Given the description of an element on the screen output the (x, y) to click on. 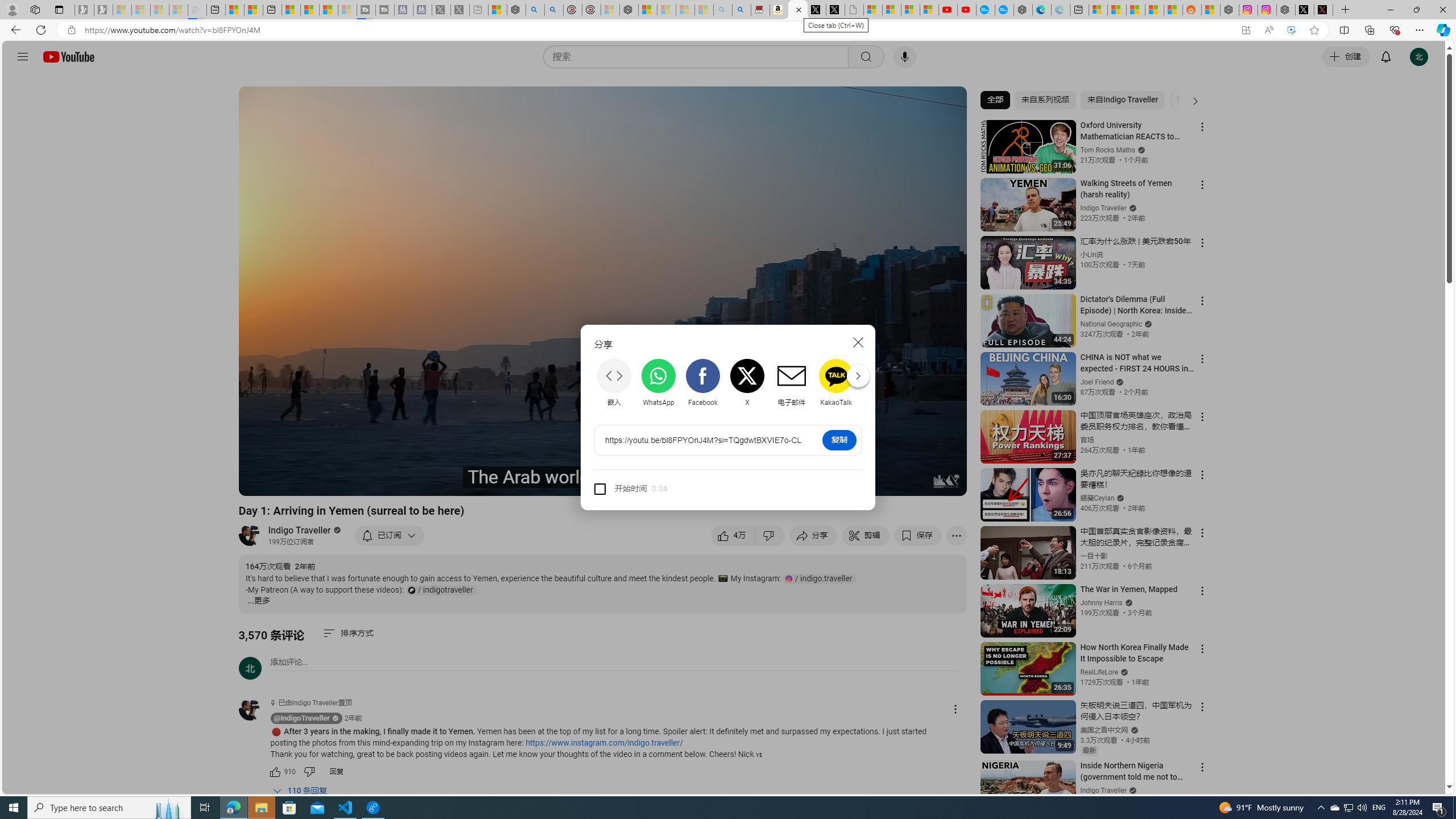
poe ++ standard - Search (553, 9)
@IndigoTraveller (301, 718)
